Given the description of an element on the screen output the (x, y) to click on. 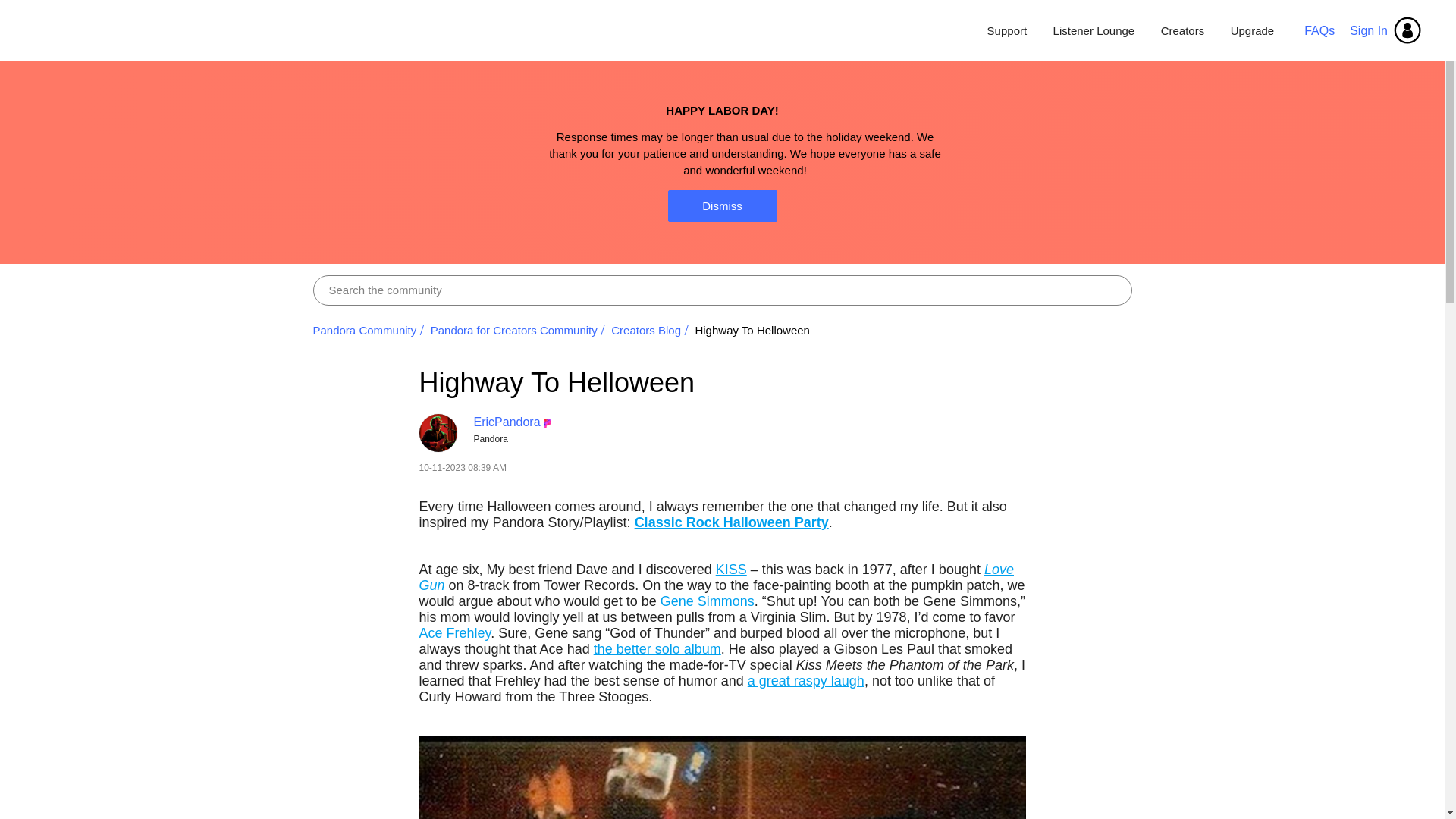
KISS (731, 569)
Support (1007, 30)
Pandora Community (364, 329)
Creators Blog (646, 329)
Creators (1182, 30)
Listener Lounge (1094, 30)
Love Gun (716, 576)
Pandora for Creators Community (513, 329)
Sign In (1385, 30)
Dismiss (721, 205)
